Given the description of an element on the screen output the (x, y) to click on. 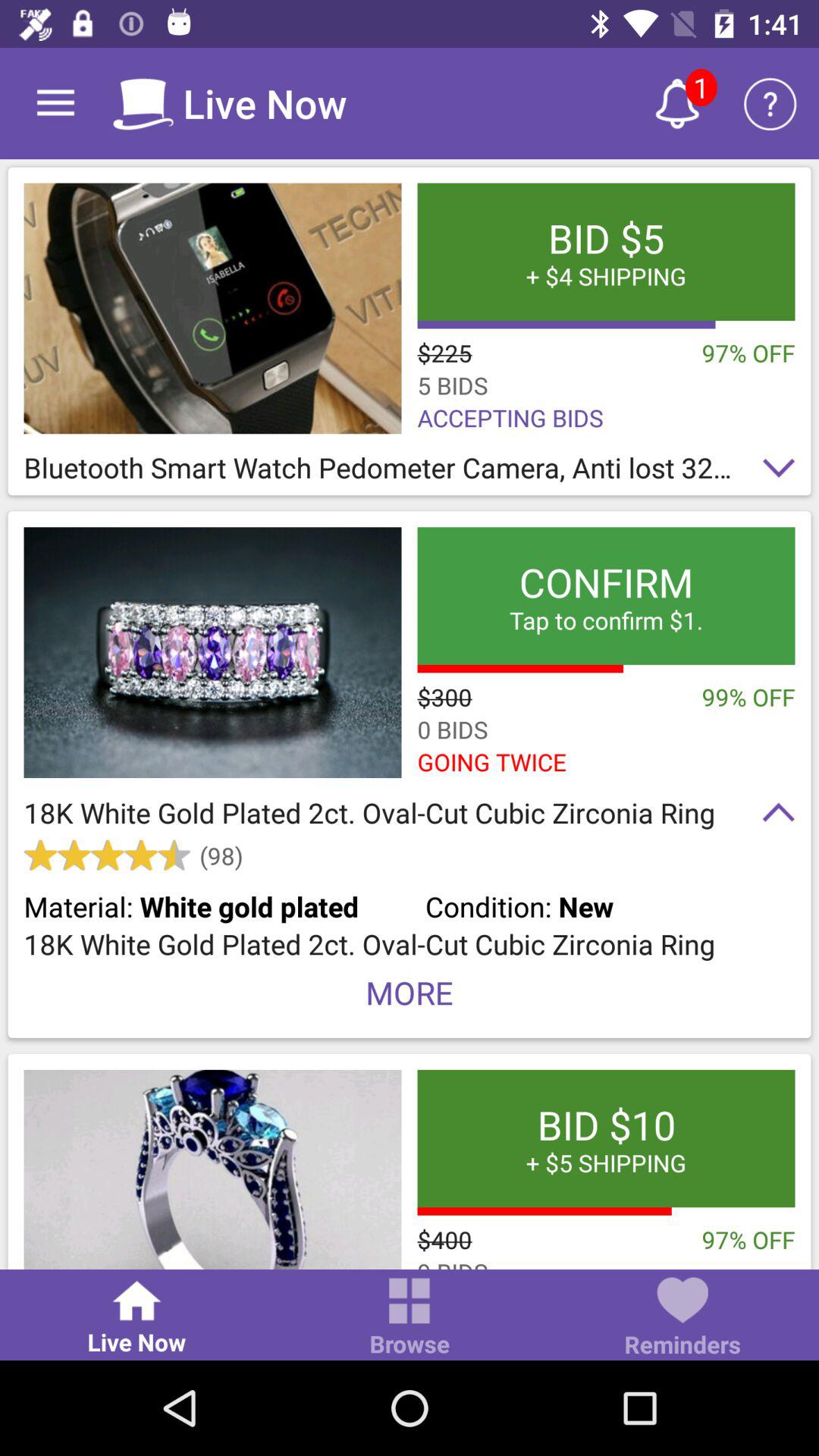
18k white gold ring (212, 652)
